Given the description of an element on the screen output the (x, y) to click on. 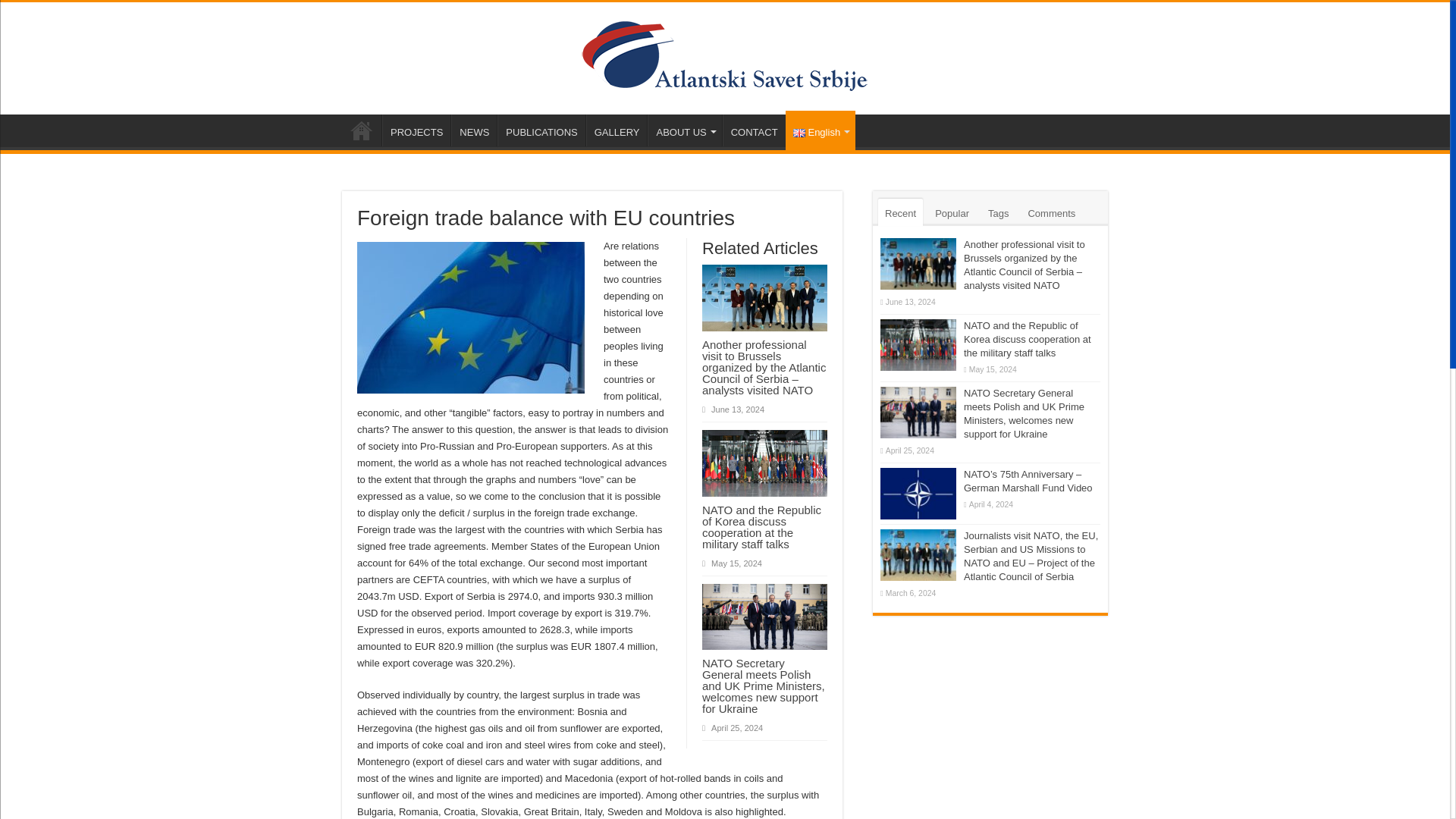
CONTACT (754, 130)
English (821, 129)
NEWS (473, 130)
Atlantski Savet Srbije (724, 54)
HOME (361, 130)
ABOUT US (683, 130)
PROJECTS (415, 130)
PUBLICATIONS (541, 130)
GALLERY (616, 130)
